Given the description of an element on the screen output the (x, y) to click on. 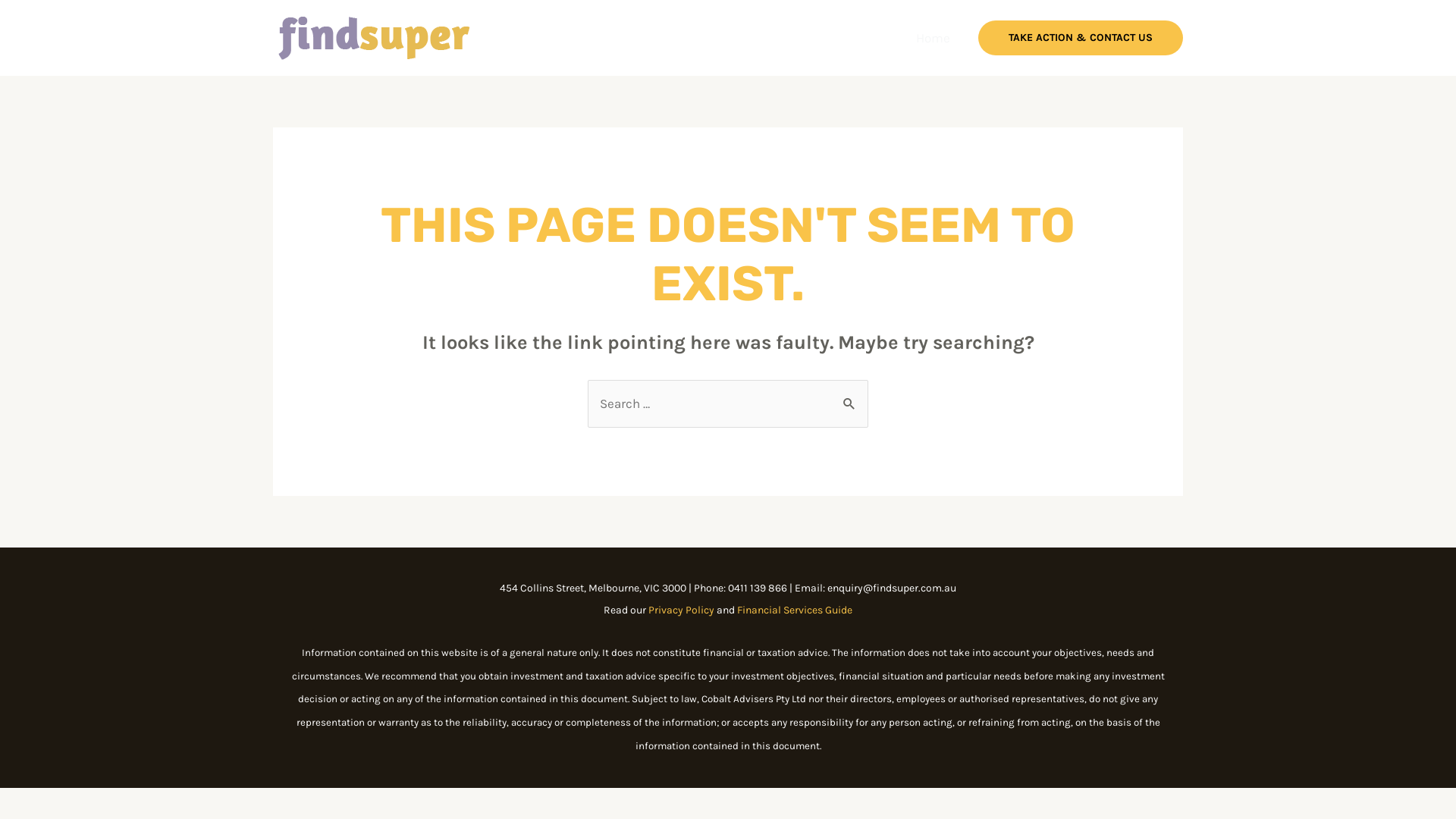
Search Element type: text (851, 394)
TAKE ACTION & CONTACT US Element type: text (1080, 37)
Financial Services Guide Element type: text (794, 609)
Home Element type: text (933, 37)
Privacy Policy Element type: text (681, 609)
